Given the description of an element on the screen output the (x, y) to click on. 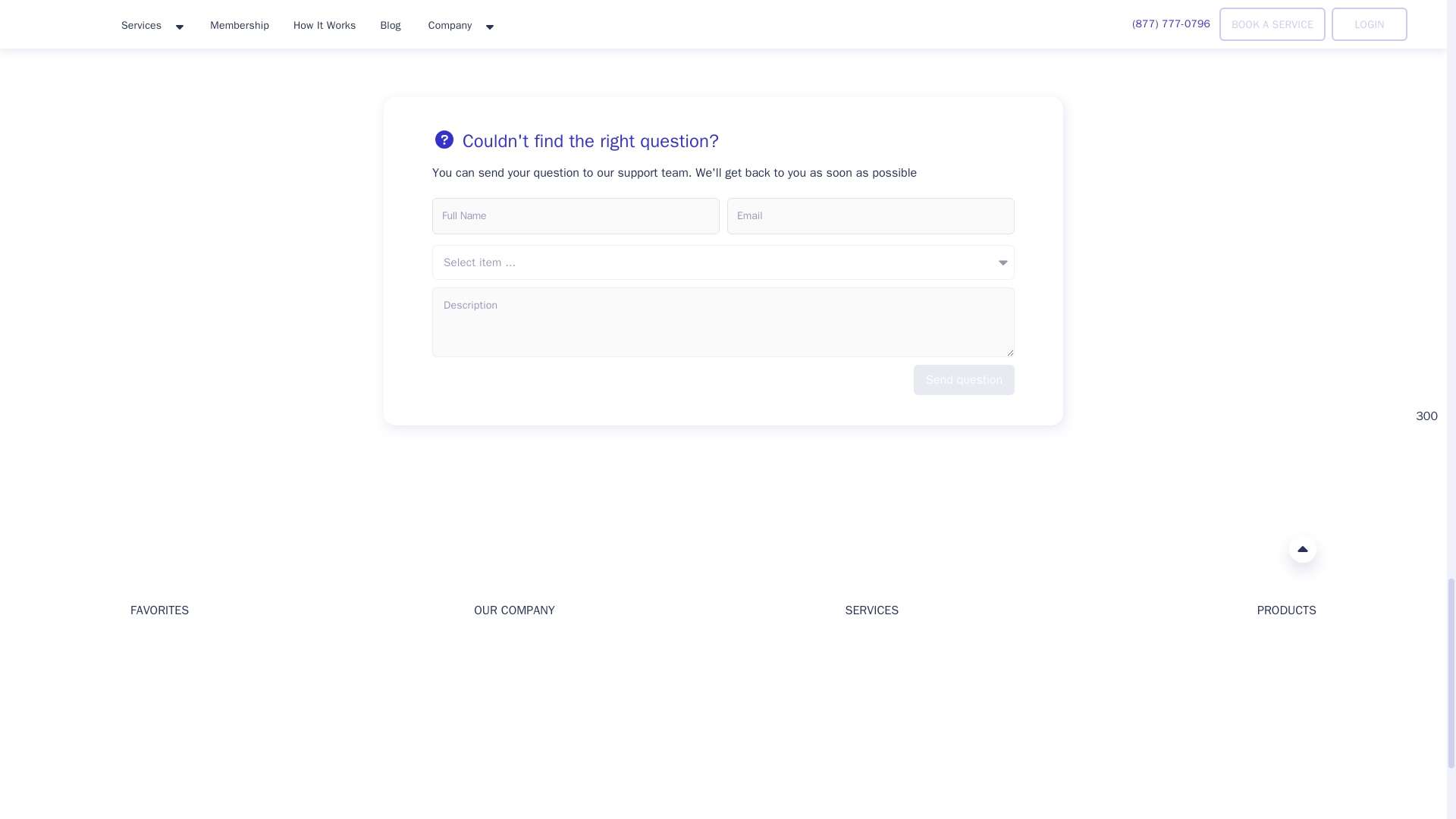
Investors (496, 671)
About Us (496, 646)
Blog (141, 671)
Welcome (152, 646)
Locations (154, 719)
HomeAlliance (146, 547)
Send question (964, 379)
Select item ... (723, 262)
Membership (160, 744)
